Given the description of an element on the screen output the (x, y) to click on. 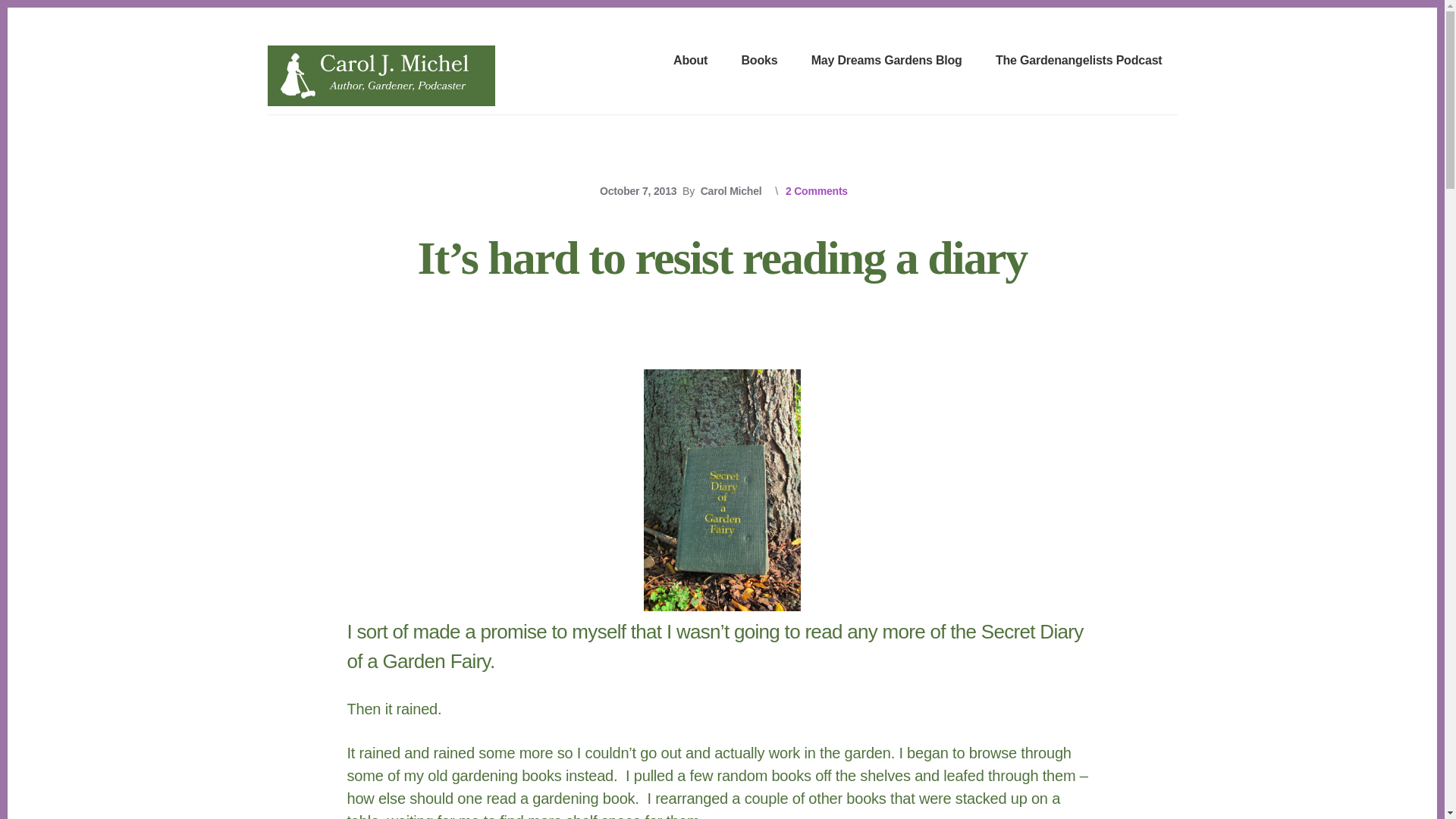
2 Comments (816, 191)
About (689, 61)
May Dreams Gardens Blog (886, 61)
Carol Michel (731, 191)
The Gardenangelists Podcast (1079, 61)
Books (759, 61)
